Given the description of an element on the screen output the (x, y) to click on. 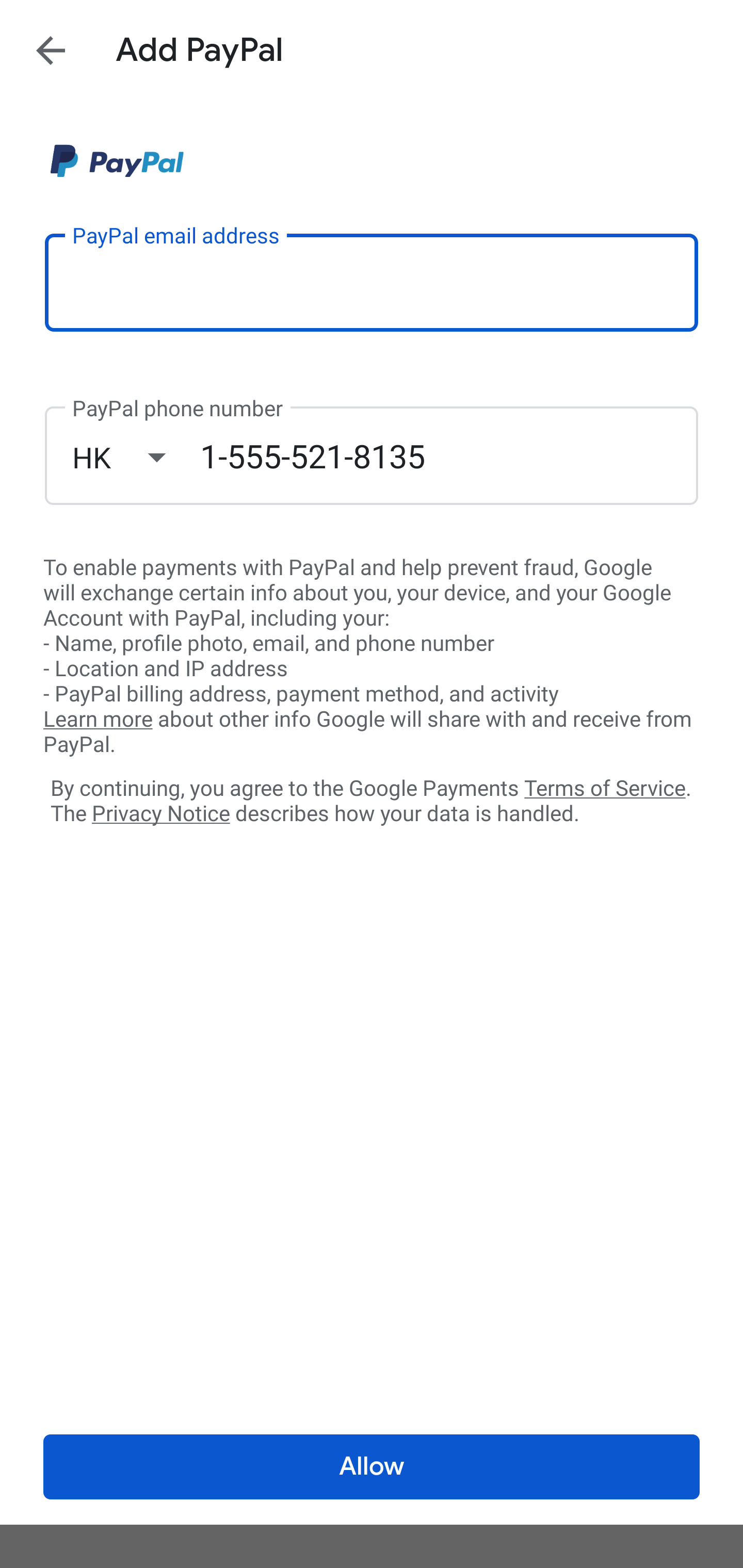
Navigate up (50, 50)
PayPal email address (371, 282)
HK (135, 456)
Learn more (97, 719)
Terms of Service (604, 787)
Privacy Notice (160, 814)
Allow (371, 1466)
